Given the description of an element on the screen output the (x, y) to click on. 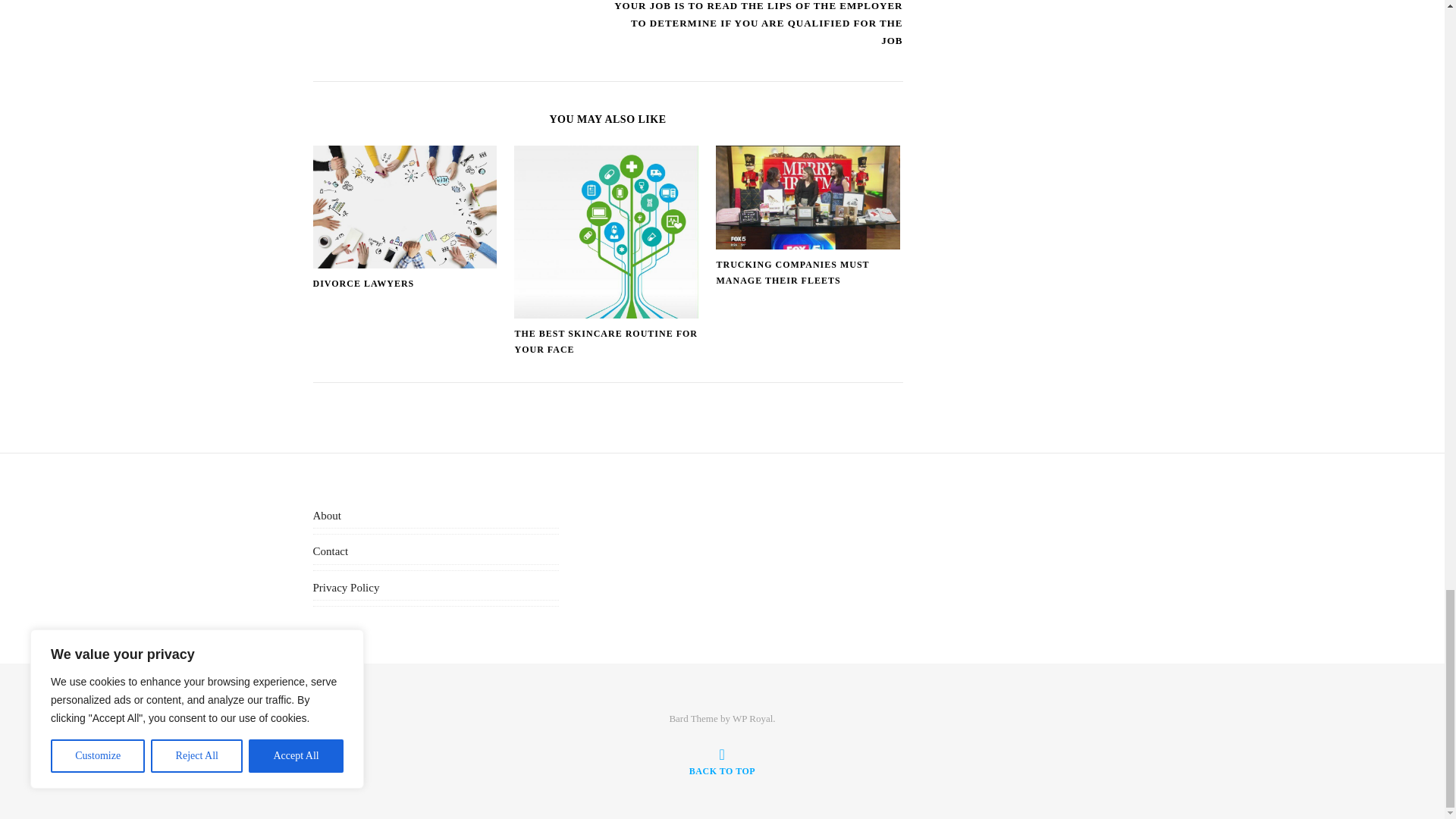
Online Casinos Las Vegas - Play Free Online Slots Machines (460, 2)
BACK TO TOP (722, 761)
